Given the description of an element on the screen output the (x, y) to click on. 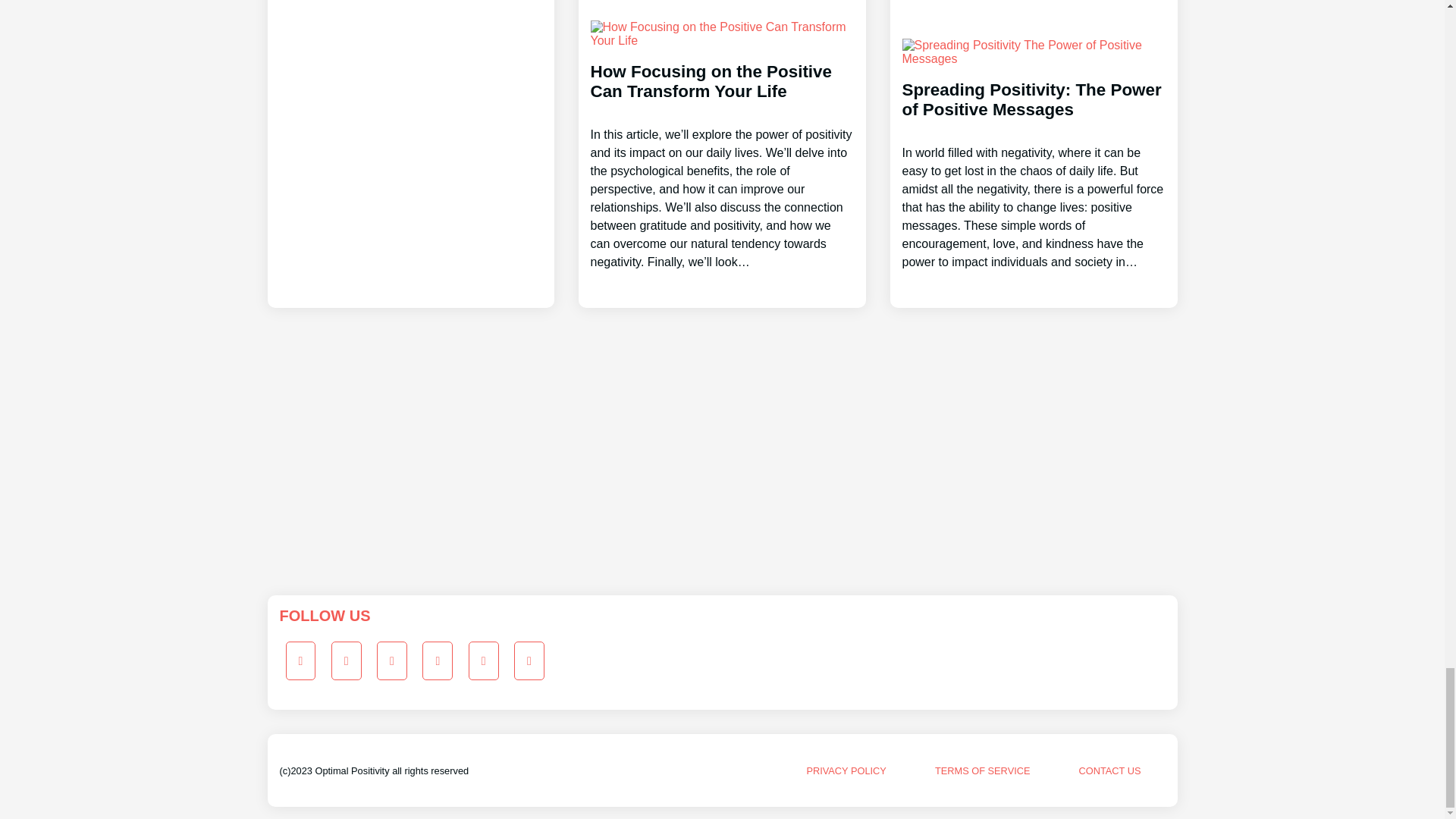
CONTACT US (1109, 770)
PRIVACY POLICY (846, 770)
How Focusing on the Positive Can Transform Your Life (721, 152)
Spreading Positivity: The Power of Positive Messages (1034, 161)
TERMS OF SERVICE (982, 770)
